Given the description of an element on the screen output the (x, y) to click on. 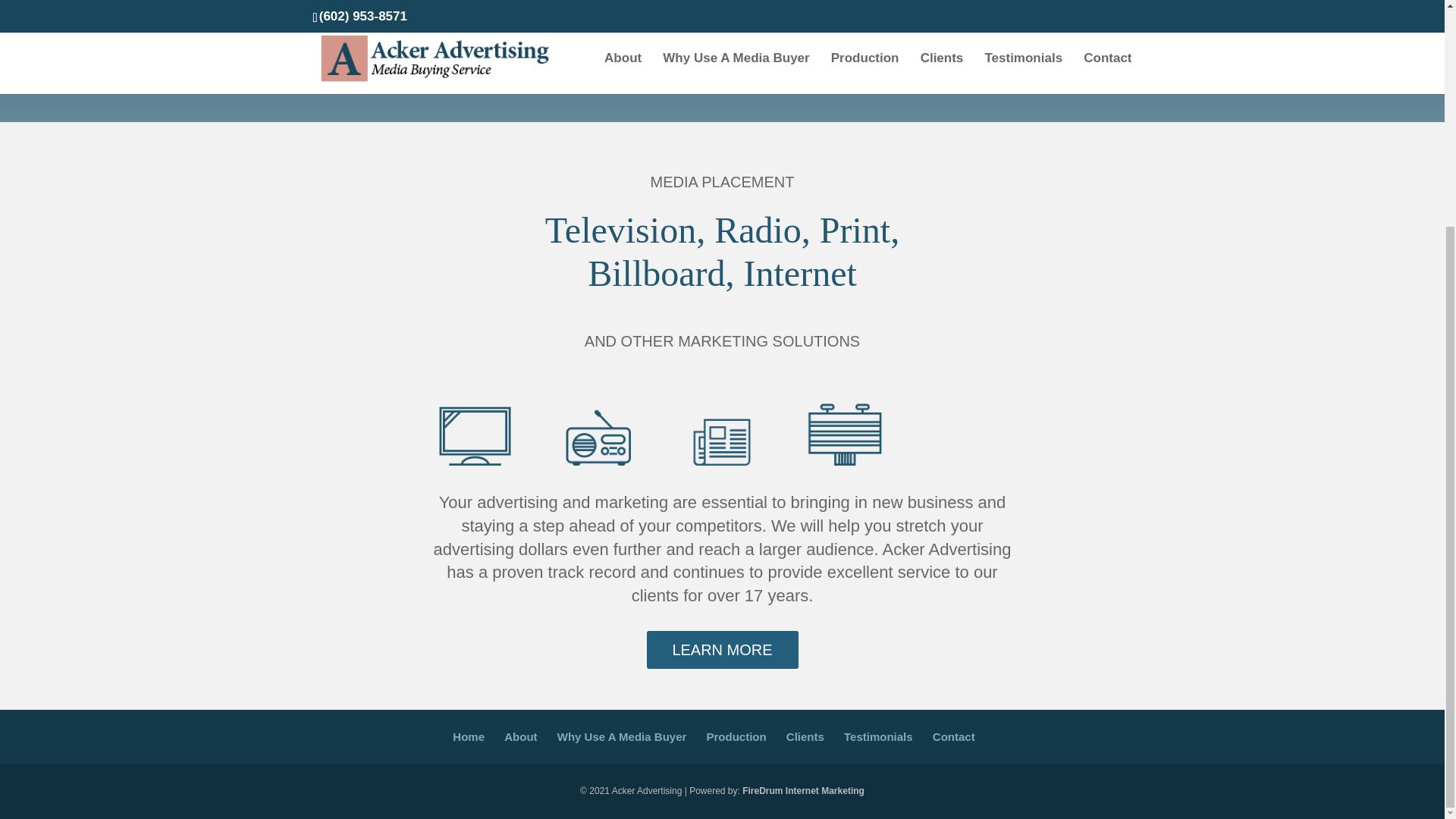
Why Use A Media Buyer (622, 736)
Custom websites by FireDrum Internet Marketing (803, 790)
LEARN MORE (721, 649)
Testimonials (878, 736)
About (520, 736)
Clients (805, 736)
Contact (954, 736)
Contact Us Now (384, 4)
Production (736, 736)
FireDrum Internet Marketing (803, 790)
